Given the description of an element on the screen output the (x, y) to click on. 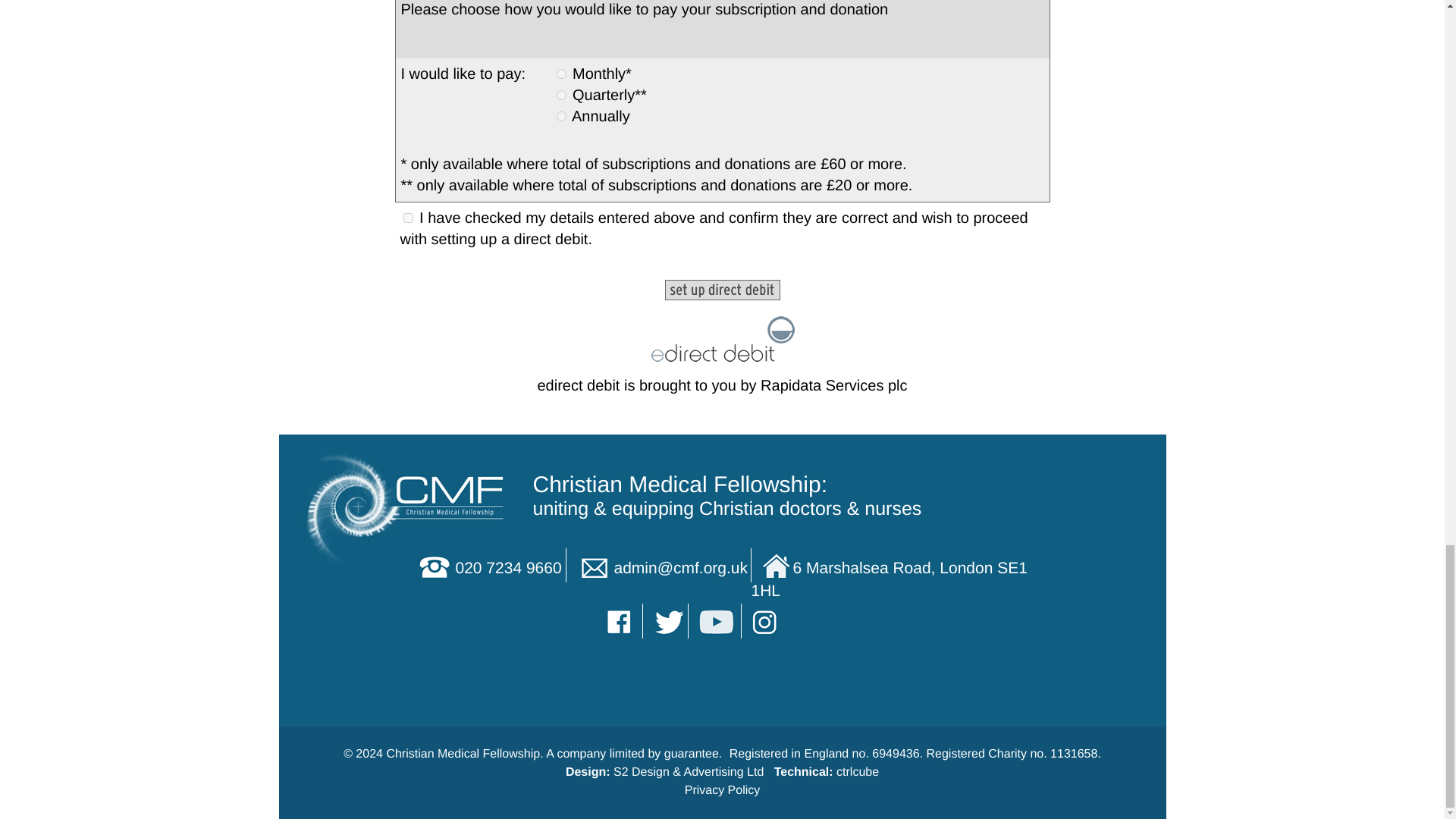
CMF on Twitter (666, 620)
CMF on Instagram (766, 620)
CMF on Facebook (620, 620)
CMF on YouTube (717, 620)
m (561, 73)
q (561, 94)
